Given the description of an element on the screen output the (x, y) to click on. 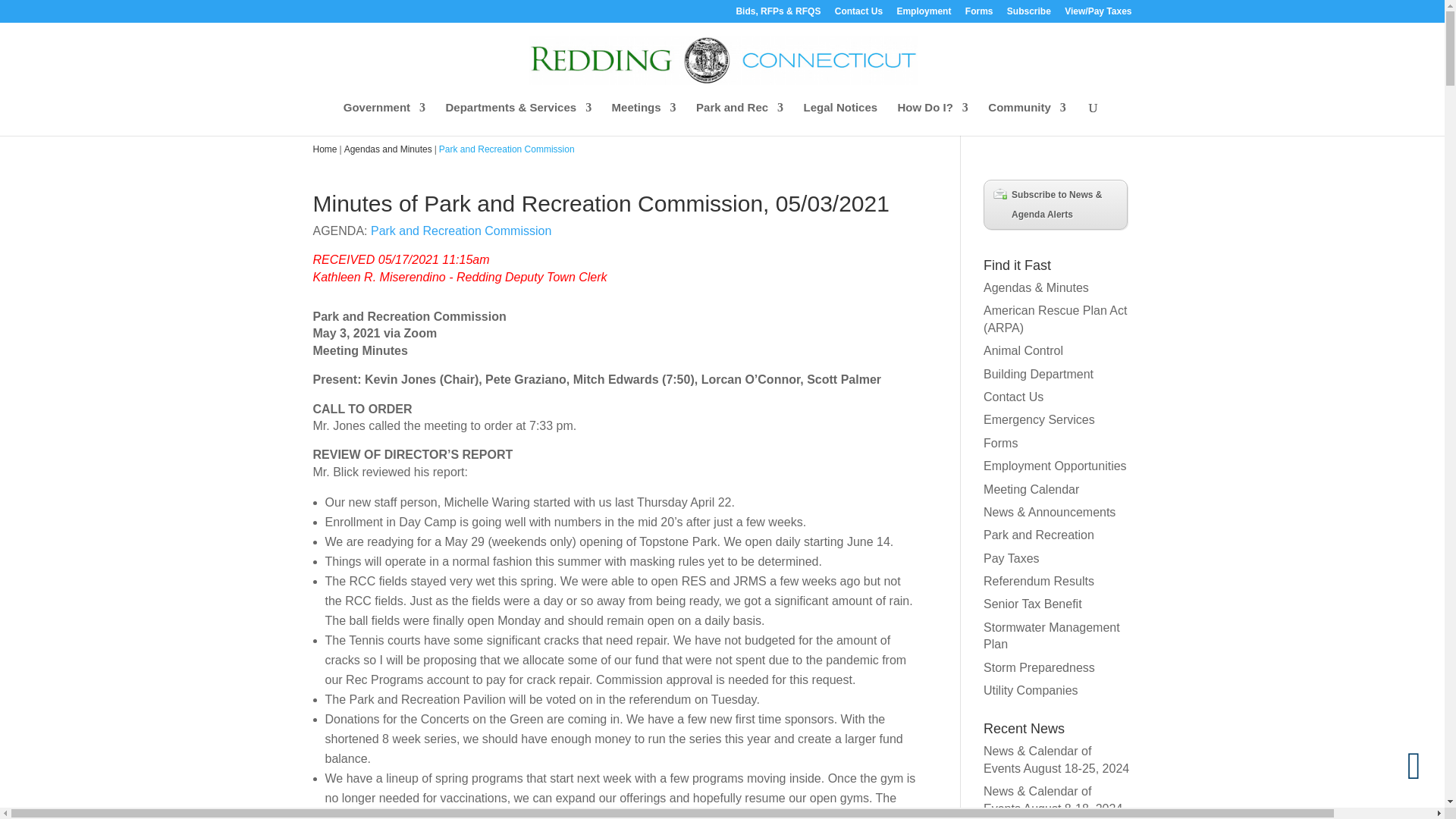
Government (384, 118)
Employment (923, 14)
Contact Us (858, 14)
Go to Town of Redding, Connecticut Official Website. (324, 149)
Subscribe (1029, 14)
Forms (978, 14)
Go to Agendas and Minutes. (387, 149)
